Given the description of an element on the screen output the (x, y) to click on. 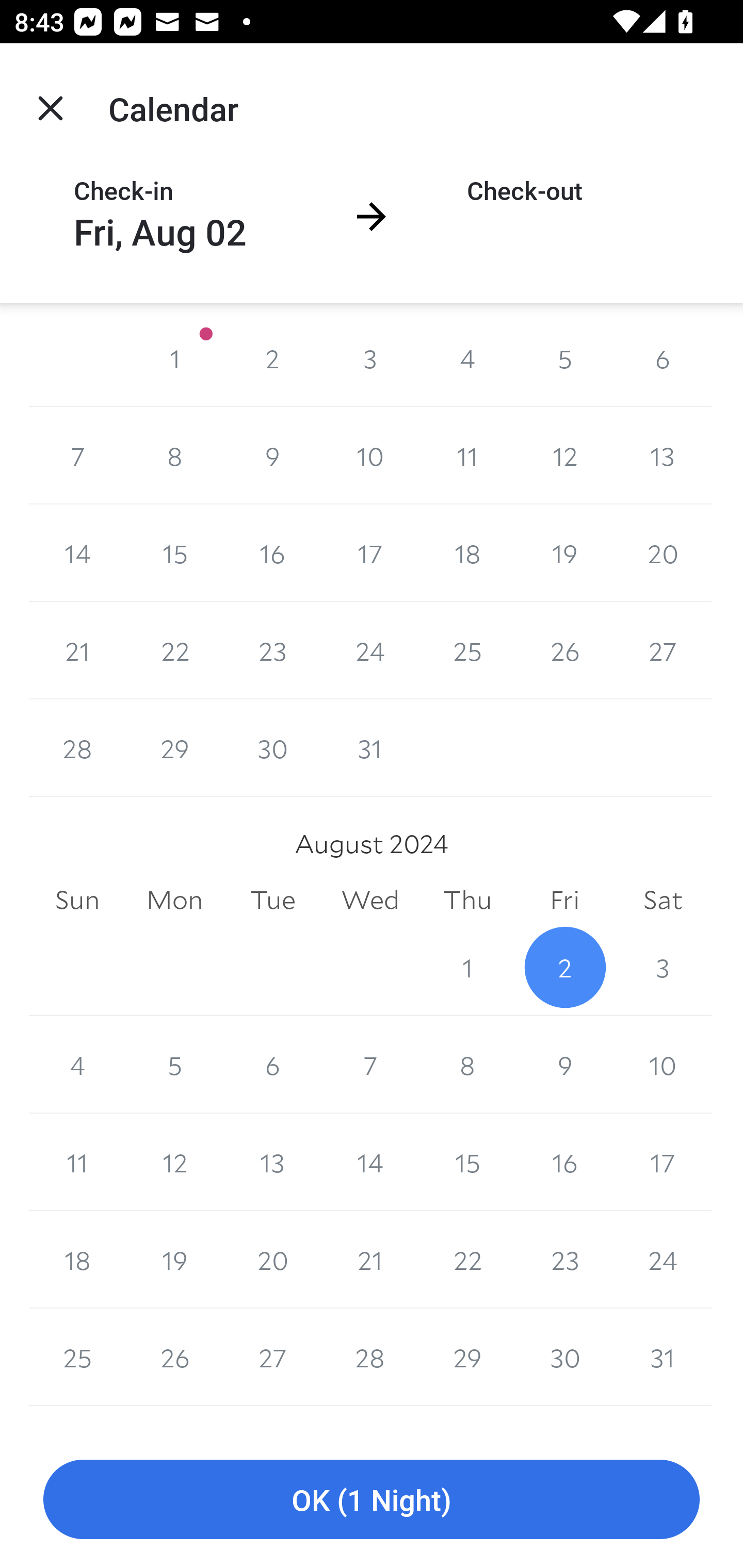
1 1 July 2024 (174, 357)
2 2 July 2024 (272, 357)
3 3 July 2024 (370, 357)
4 4 July 2024 (467, 357)
5 5 July 2024 (564, 357)
6 6 July 2024 (662, 357)
7 7 July 2024 (77, 455)
8 8 July 2024 (174, 455)
9 9 July 2024 (272, 455)
10 10 July 2024 (370, 455)
11 11 July 2024 (467, 455)
12 12 July 2024 (564, 455)
13 13 July 2024 (662, 455)
14 14 July 2024 (77, 553)
15 15 July 2024 (174, 553)
16 16 July 2024 (272, 553)
17 17 July 2024 (370, 553)
18 18 July 2024 (467, 553)
19 19 July 2024 (564, 553)
20 20 July 2024 (662, 553)
21 21 July 2024 (77, 650)
22 22 July 2024 (174, 650)
23 23 July 2024 (272, 650)
24 24 July 2024 (370, 650)
25 25 July 2024 (467, 650)
26 26 July 2024 (564, 650)
27 27 July 2024 (662, 650)
28 28 July 2024 (77, 747)
29 29 July 2024 (174, 747)
30 30 July 2024 (272, 747)
31 31 July 2024 (370, 747)
Sun (77, 899)
Mon (174, 899)
Tue (272, 899)
Wed (370, 899)
Thu (467, 899)
Fri (564, 899)
Sat (662, 899)
1 1 August 2024 (467, 967)
2 2 August 2024 (564, 967)
3 3 August 2024 (662, 967)
4 4 August 2024 (77, 1064)
5 5 August 2024 (174, 1064)
6 6 August 2024 (272, 1064)
7 7 August 2024 (370, 1064)
8 8 August 2024 (467, 1064)
9 9 August 2024 (564, 1064)
10 10 August 2024 (662, 1064)
11 11 August 2024 (77, 1161)
12 12 August 2024 (174, 1161)
13 13 August 2024 (272, 1161)
14 14 August 2024 (370, 1161)
15 15 August 2024 (467, 1161)
16 16 August 2024 (564, 1161)
17 17 August 2024 (662, 1161)
18 18 August 2024 (77, 1259)
19 19 August 2024 (174, 1259)
20 20 August 2024 (272, 1259)
21 21 August 2024 (370, 1259)
22 22 August 2024 (467, 1259)
23 23 August 2024 (564, 1259)
24 24 August 2024 (662, 1259)
25 25 August 2024 (77, 1357)
26 26 August 2024 (174, 1357)
27 27 August 2024 (272, 1357)
28 28 August 2024 (370, 1357)
29 29 August 2024 (467, 1357)
30 30 August 2024 (564, 1357)
31 31 August 2024 (662, 1357)
OK (1 Night) (371, 1499)
